Given the description of an element on the screen output the (x, y) to click on. 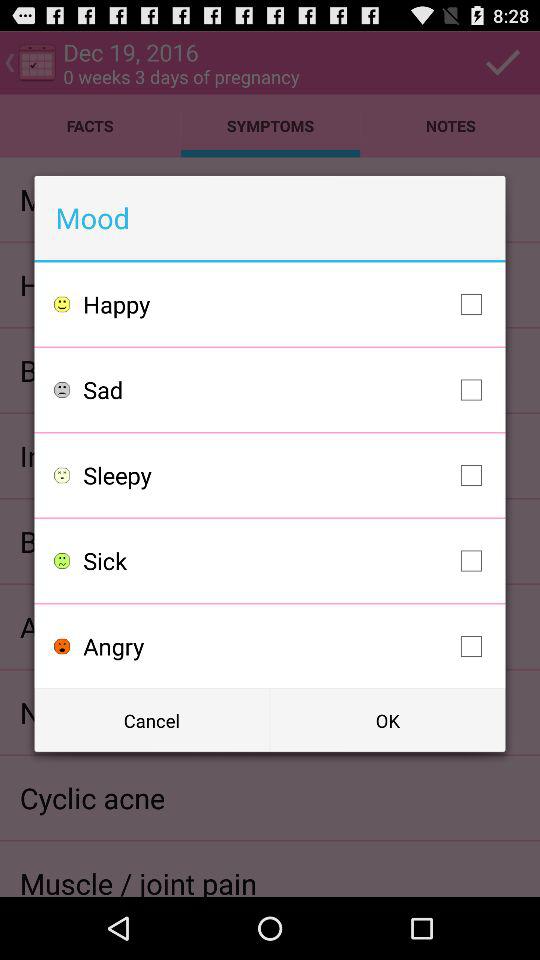
turn on icon below sleepy (287, 560)
